Given the description of an element on the screen output the (x, y) to click on. 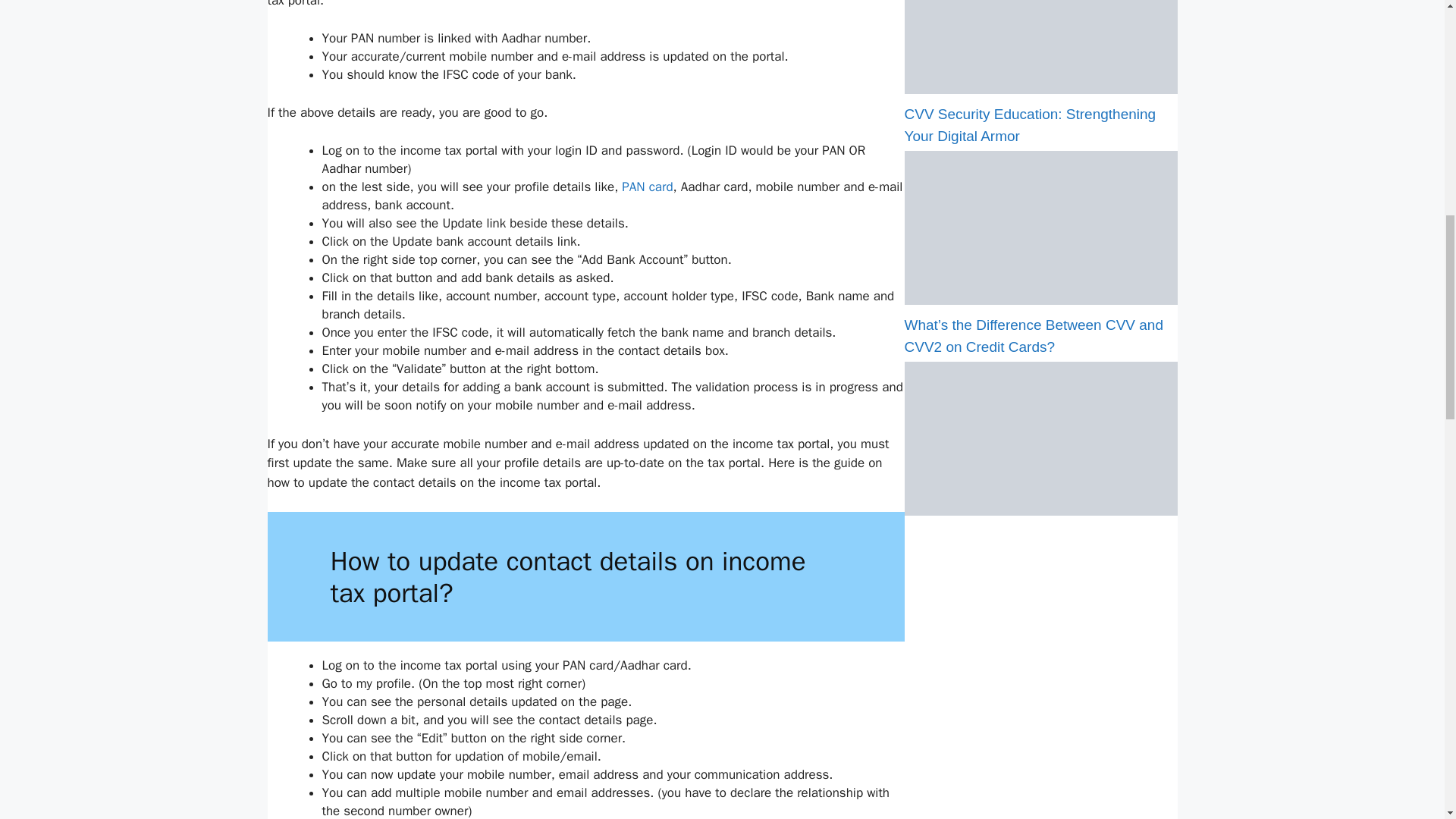
CVV Security Education: Strengthening Your Digital Armor (1030, 125)
Scroll back to top (1406, 720)
CVV Security Education: Strengthening Your Digital Armor (1040, 300)
PAN card (646, 186)
